Given the description of an element on the screen output the (x, y) to click on. 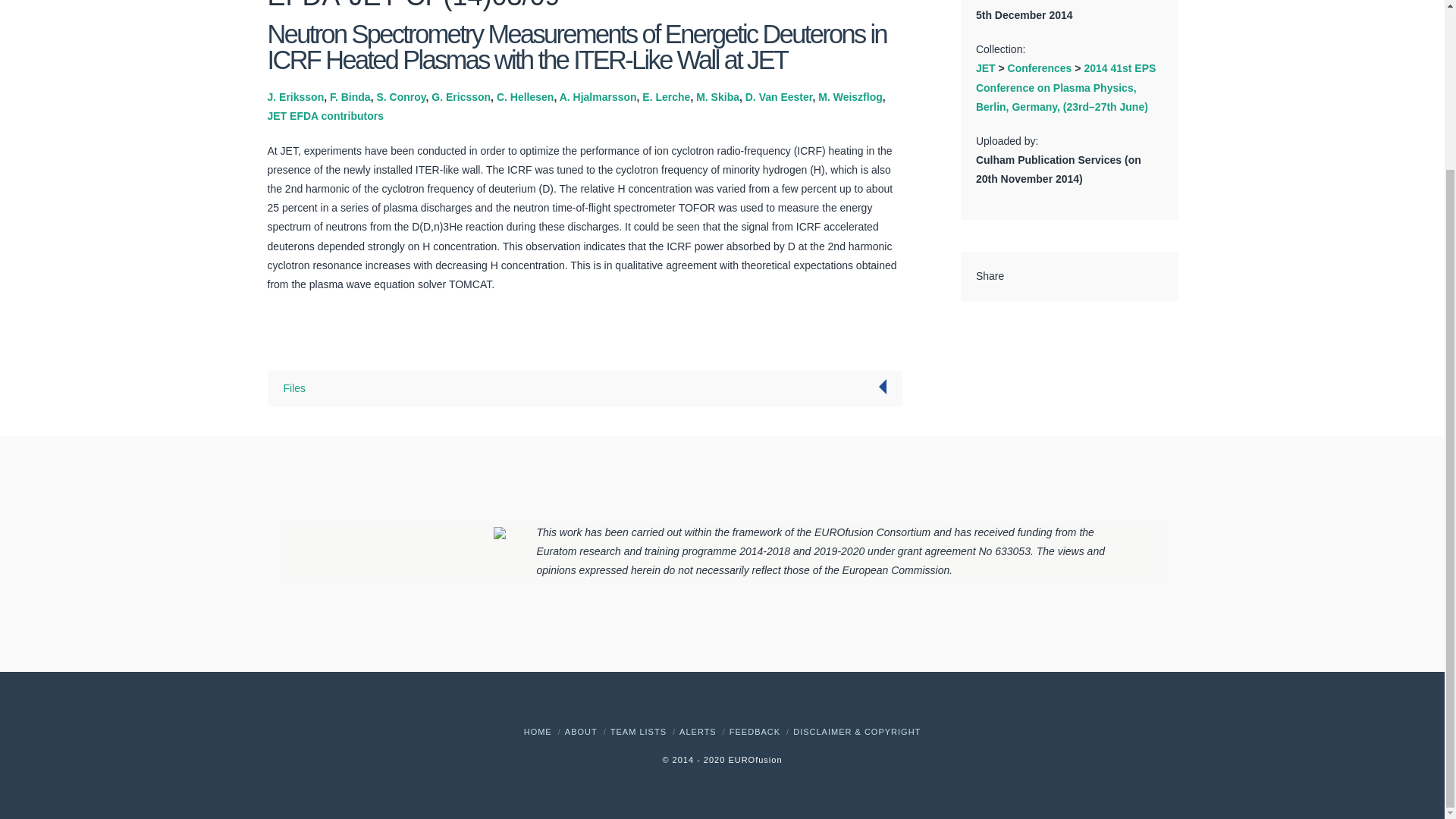
C. Hellesen (524, 96)
HOME (537, 731)
Files (294, 387)
Conferences (1039, 68)
D. Van Eester (778, 96)
ALERTS (697, 731)
G. Ericsson (460, 96)
E. Lerche (666, 96)
M. Weiszflog (850, 96)
F. Binda (350, 96)
